Given the description of an element on the screen output the (x, y) to click on. 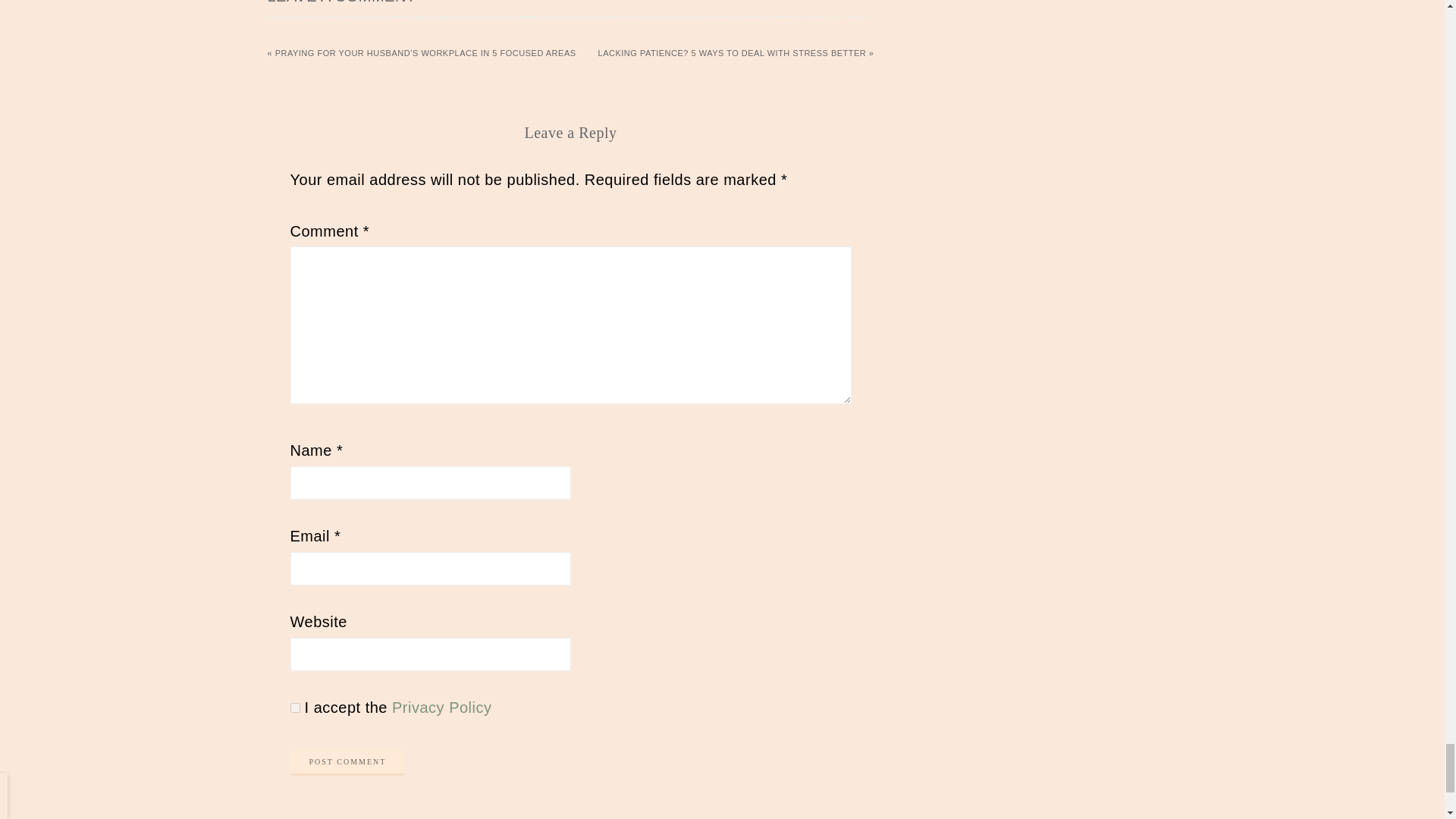
Post Comment (346, 762)
1 (294, 707)
